Given the description of an element on the screen output the (x, y) to click on. 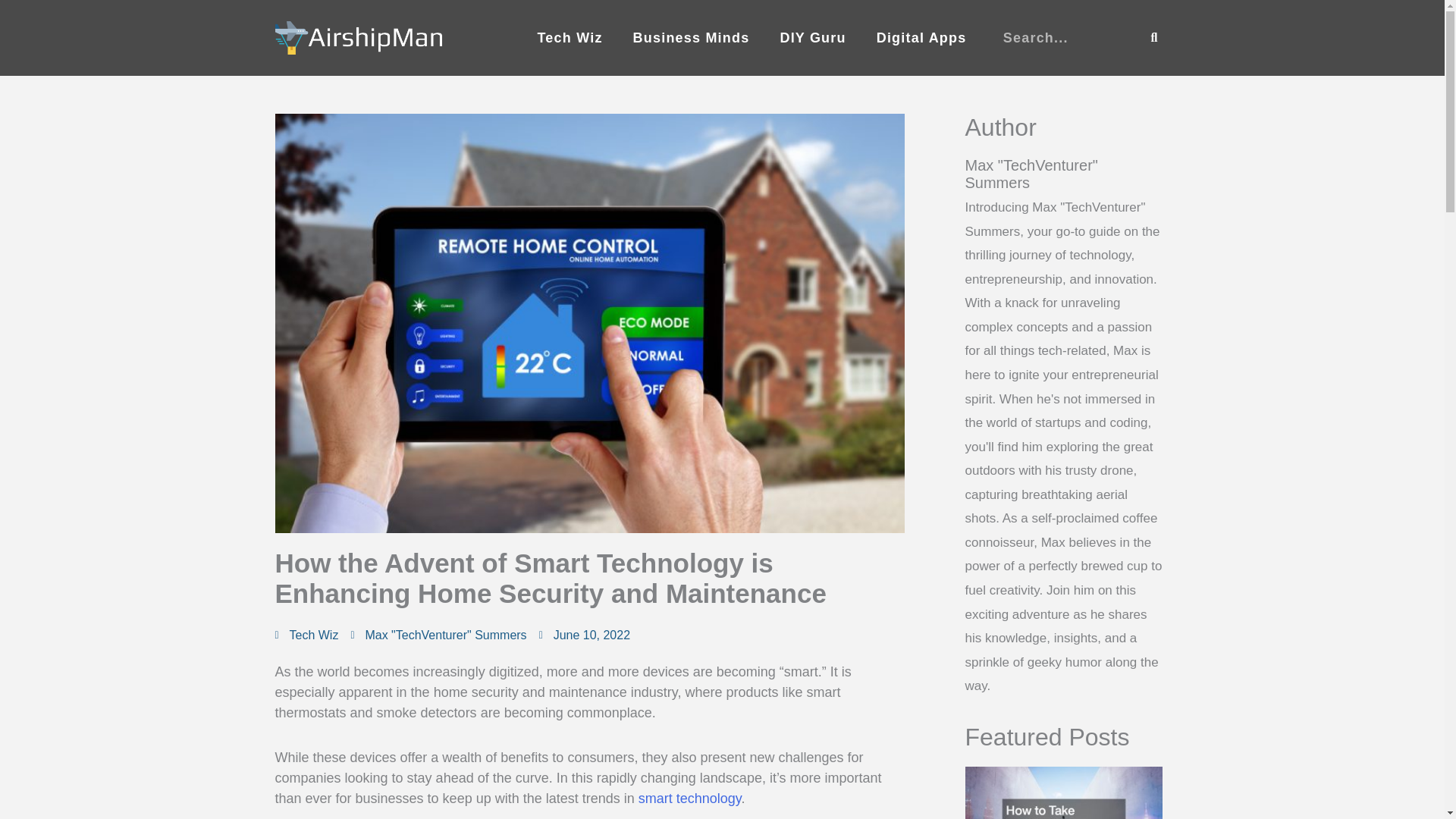
Search (1153, 37)
Business Minds (691, 37)
smart technology (690, 798)
June 10, 2022 (584, 635)
DIY Guru (812, 37)
Tech Wiz (314, 634)
Tech Wiz (569, 37)
Digital Apps (921, 37)
